Given the description of an element on the screen output the (x, y) to click on. 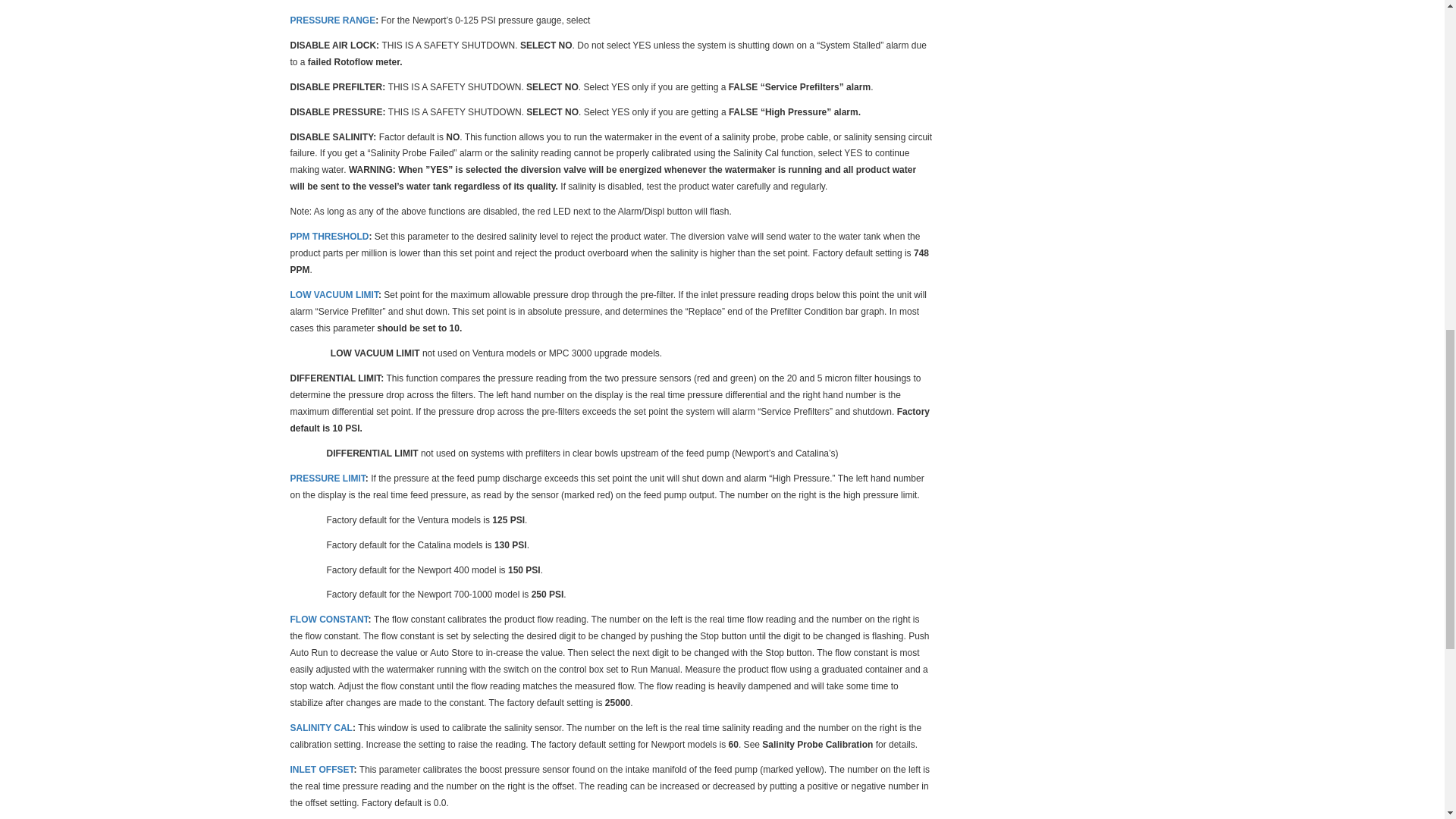
FLOW CONSTANT (328, 618)
PRESSURE LIMIT (327, 477)
INLET OFFSET (321, 768)
PPM THRESHOLD (328, 235)
LOW VACUUM LIMIT (333, 294)
PRESSURE RANGE (332, 19)
SALINITY CAL (320, 727)
